Given the description of an element on the screen output the (x, y) to click on. 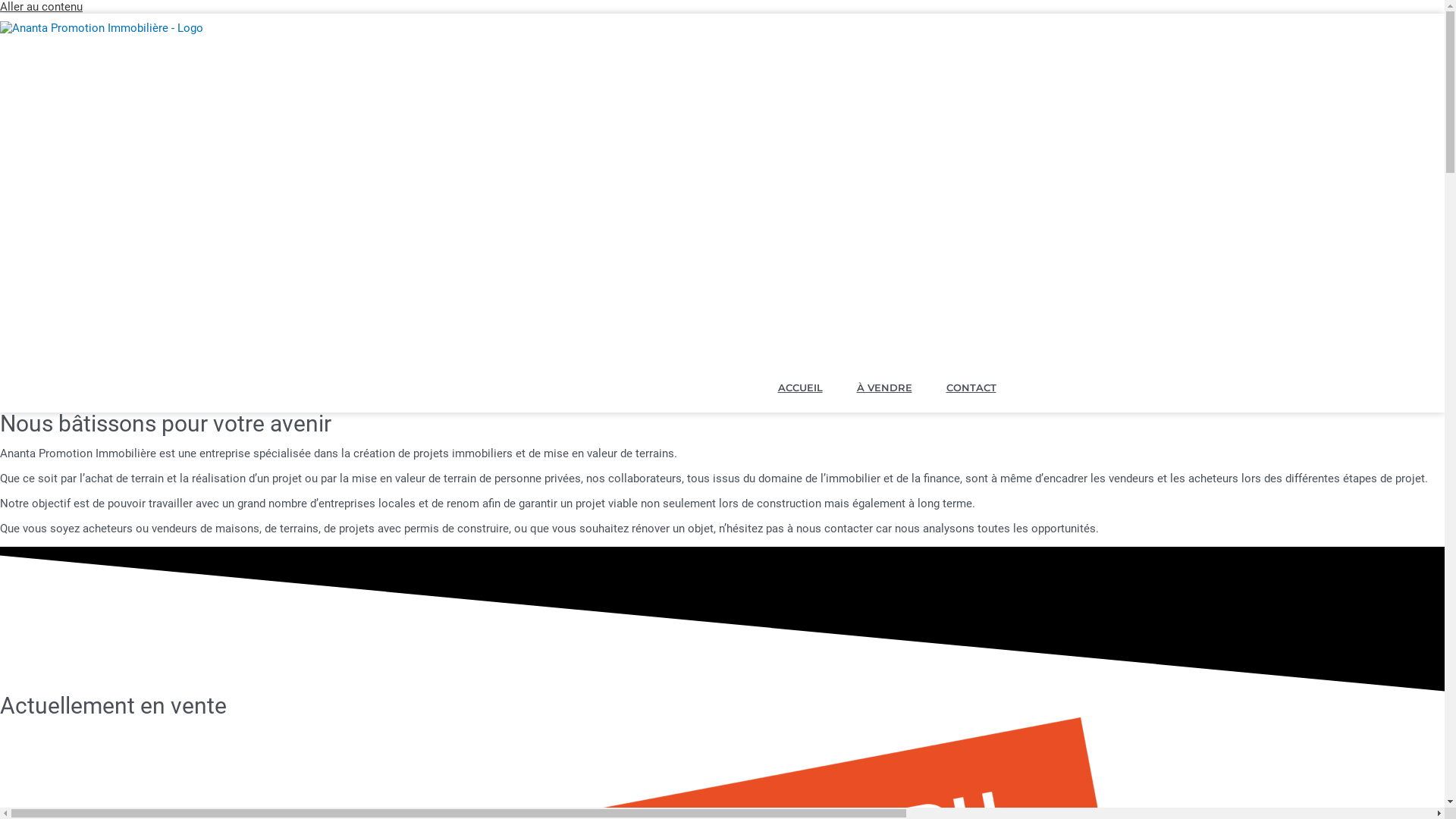
CONTACT Element type: text (971, 387)
ACCUEIL Element type: text (799, 387)
Aller au contenu Element type: text (41, 6)
